Given the description of an element on the screen output the (x, y) to click on. 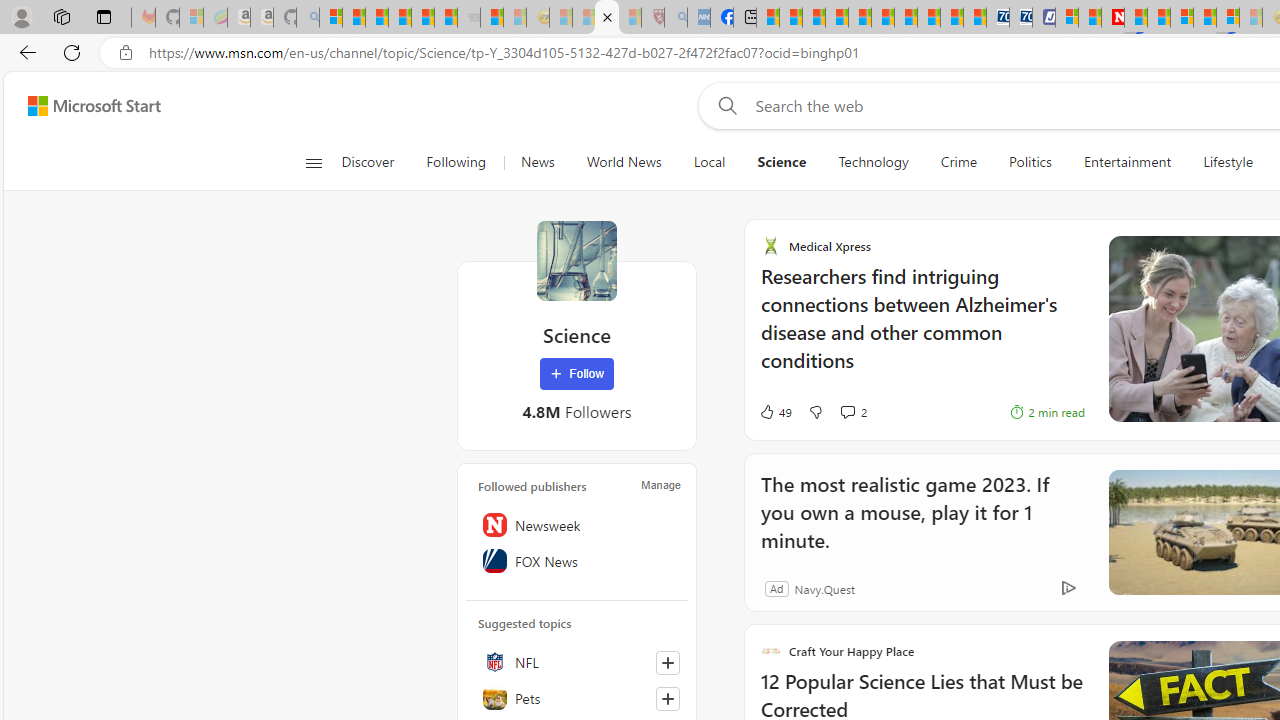
Microsoft Start - Sleeping (515, 17)
Recipes - MSN - Sleeping (561, 17)
14 Common Myths Debunked By Scientific Facts (1158, 17)
Climate Damage Becomes Too Severe To Reverse (836, 17)
Latest Politics News & Archive | Newsweek.com (1112, 17)
The Weather Channel - MSN (376, 17)
